Given the description of an element on the screen output the (x, y) to click on. 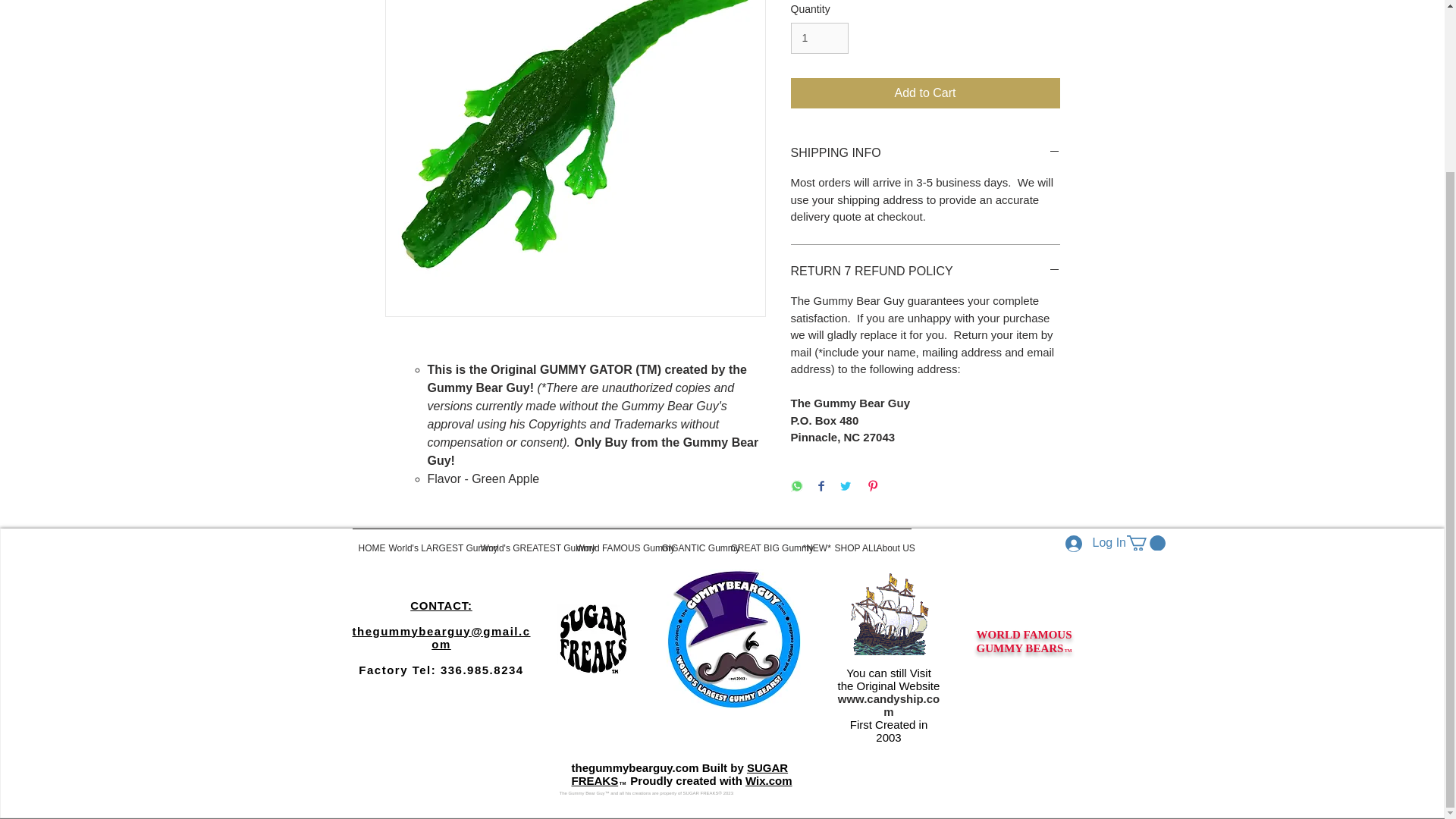
About US (890, 541)
SHOP ALL (848, 541)
World FAMOUS Gummy (613, 541)
SUGAR FREAKS (680, 774)
1 (818, 38)
World's LARGEST Gummy (427, 541)
World's GREATEST Gummy (522, 541)
Add to Cart (924, 92)
RETURN 7 REFUND POLICY (924, 271)
Wix.com (768, 780)
HOME (366, 541)
Log In (1087, 542)
www.candyship.com (888, 705)
SHIPPING INFO (924, 152)
GREAT BIG Gummy (760, 541)
